Given the description of an element on the screen output the (x, y) to click on. 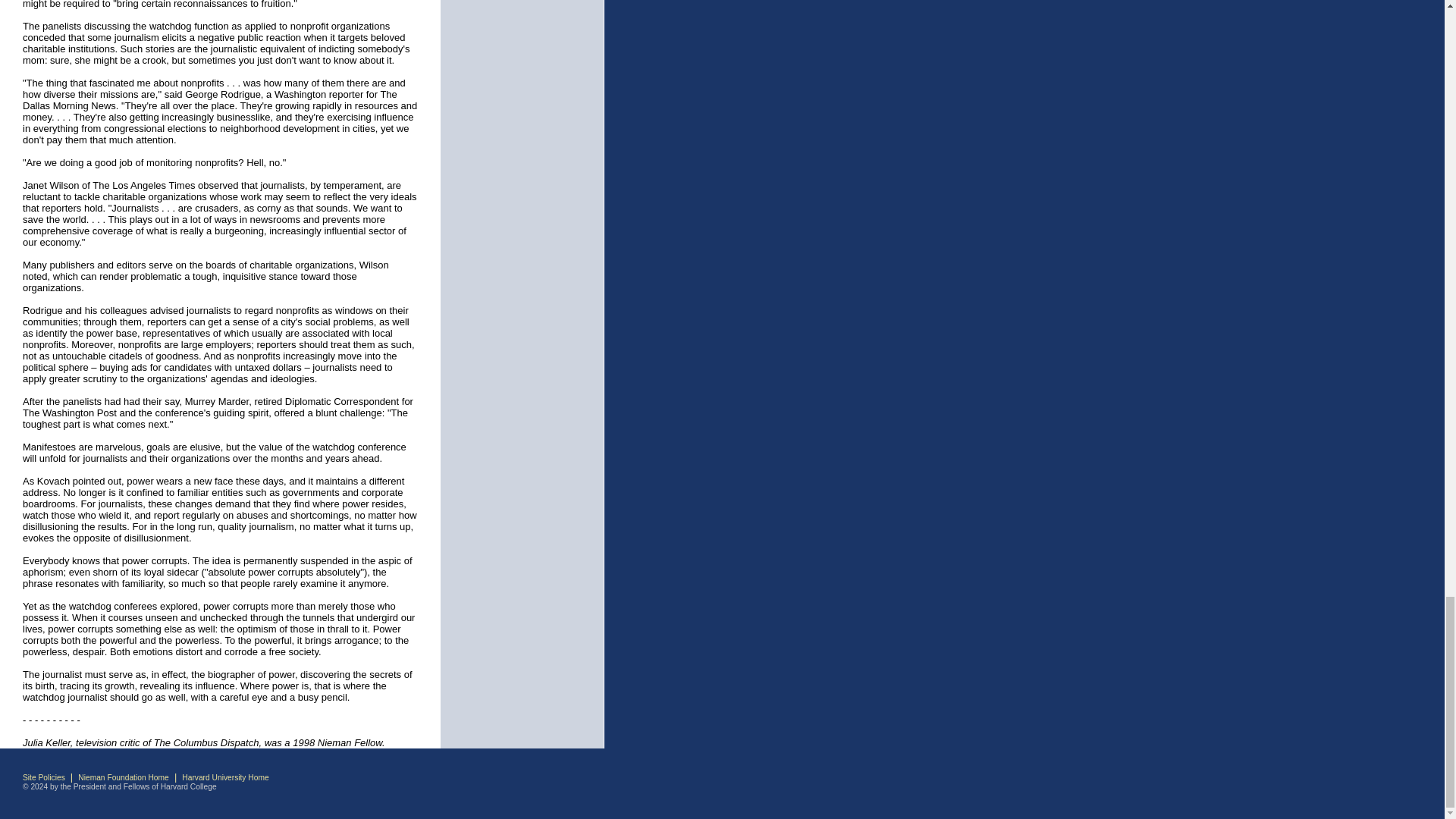
Nieman Foundation Home (123, 777)
Harvard University Home (224, 777)
Site Policies (44, 777)
